Given the description of an element on the screen output the (x, y) to click on. 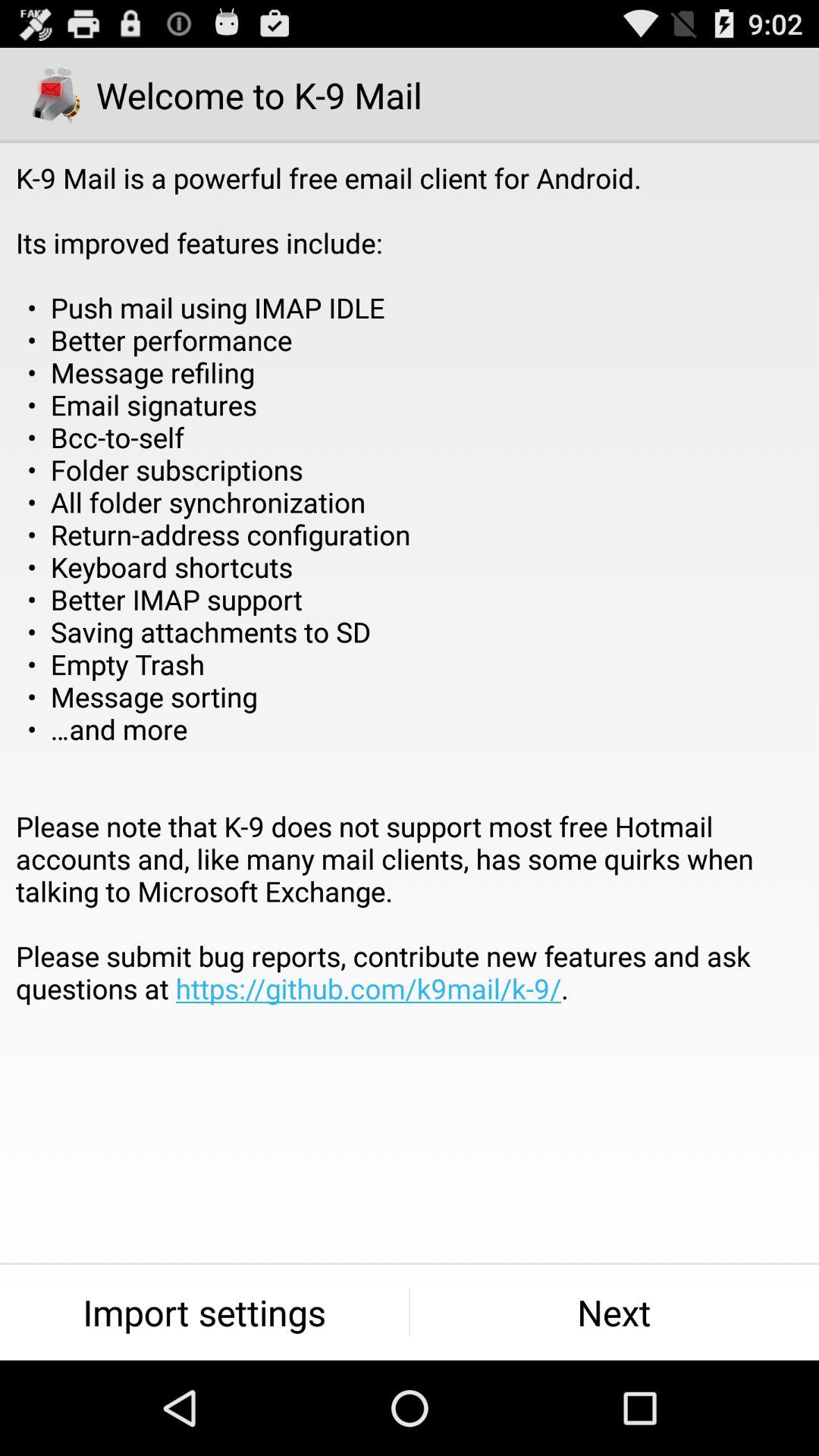
flip to import settings icon (204, 1312)
